Given the description of an element on the screen output the (x, y) to click on. 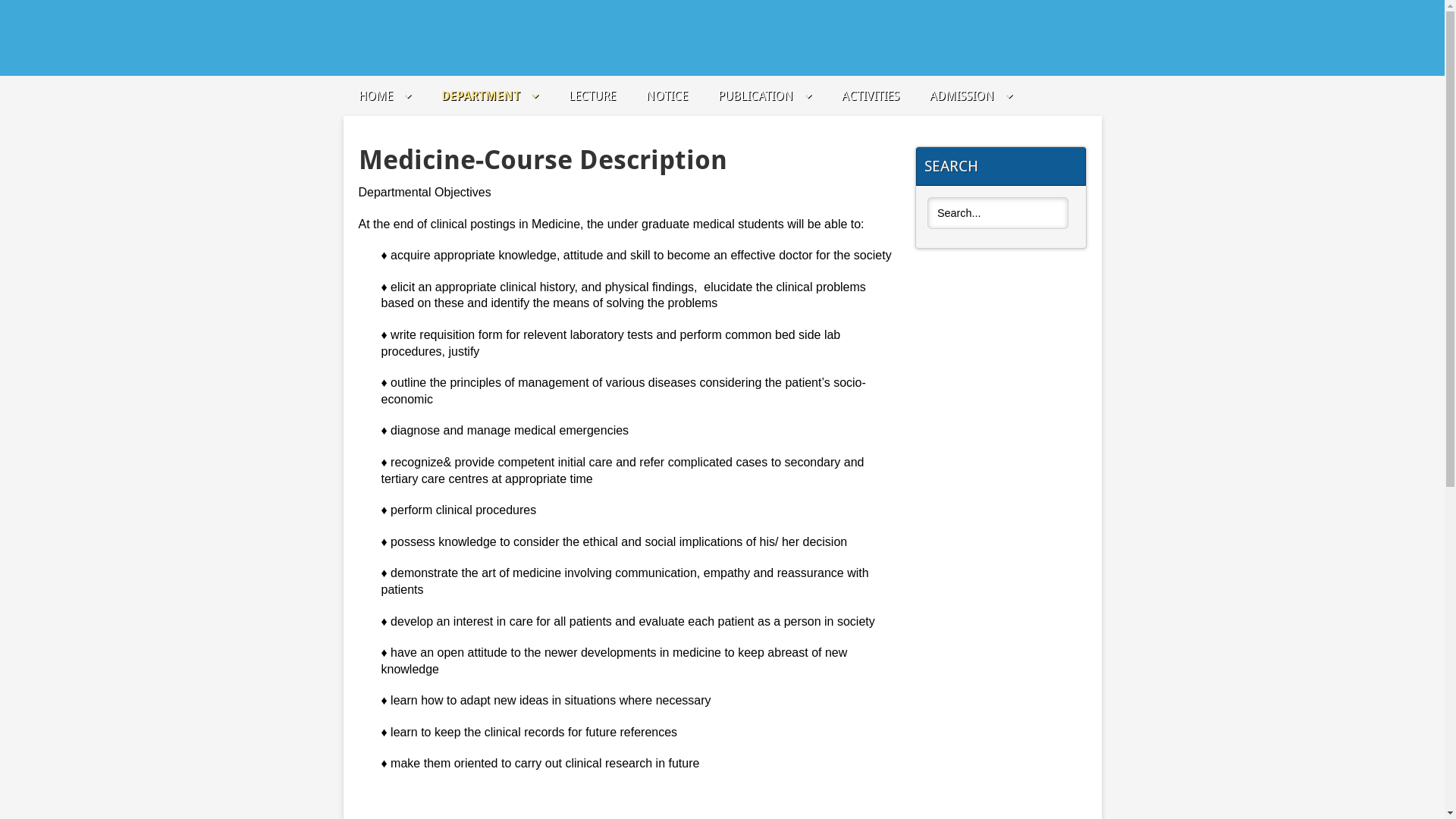
PUBLICATION Element type: text (763, 95)
LECTURE Element type: text (591, 95)
Medicine-Course Description Element type: text (541, 159)
NOTICE Element type: text (666, 95)
DEPARTMENT Element type: text (489, 95)
ADMISSION Element type: text (970, 95)
ACTIVITIES Element type: text (870, 95)
HOME Element type: text (383, 95)
